Given the description of an element on the screen output the (x, y) to click on. 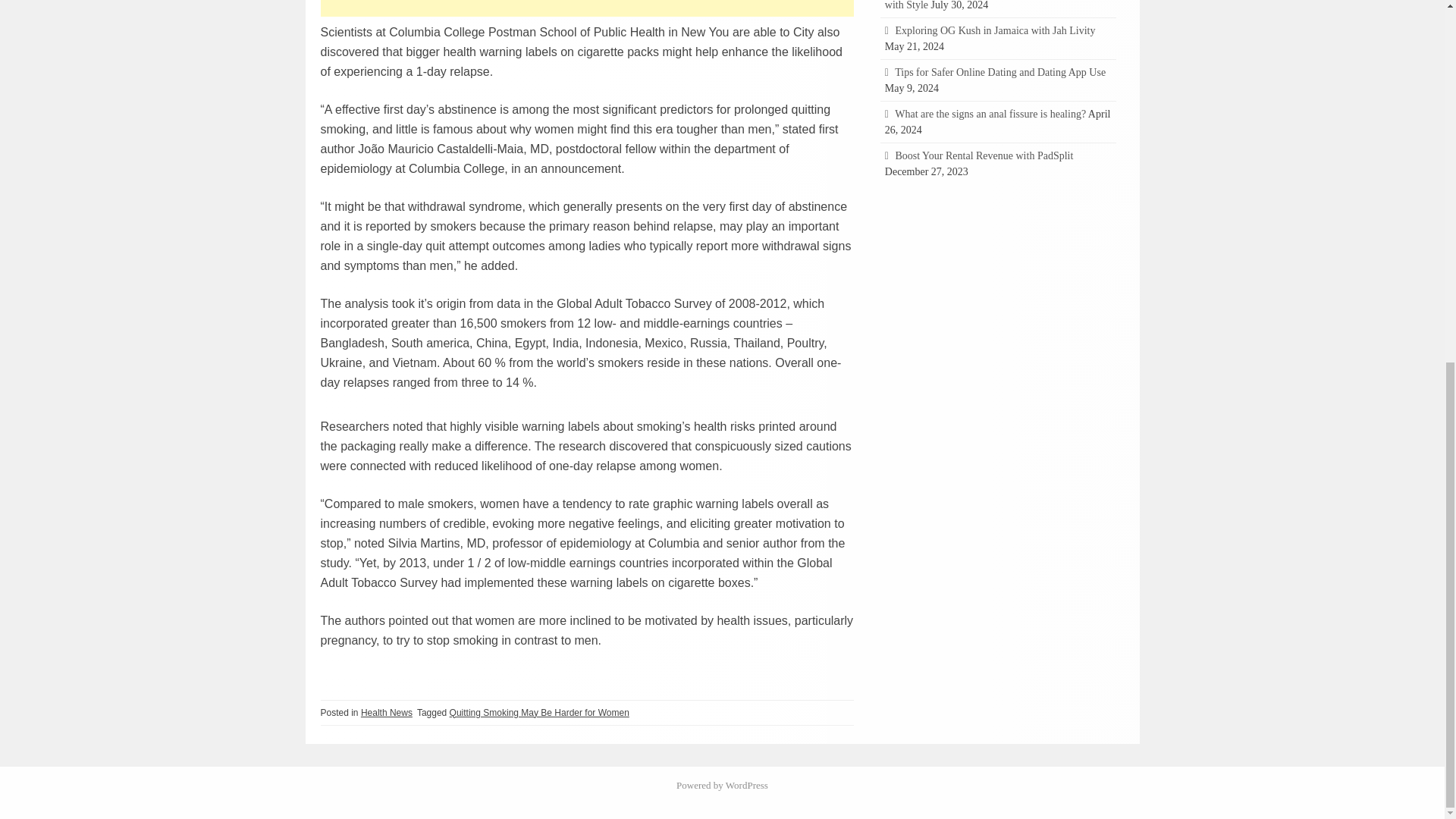
Exploring OG Kush in Jamaica with Jah Livity (994, 30)
Health News (386, 712)
The Perfect Farewell Card: How to Say Goodbye with Style (995, 5)
Advertisement (586, 7)
Quitting Smoking May Be Harder for Women (538, 712)
Tips for Safer Online Dating and Dating App Use (1000, 71)
Boost Your Rental Revenue with PadSplit (984, 155)
What are the signs an anal fissure is healing? (990, 113)
